Given the description of an element on the screen output the (x, y) to click on. 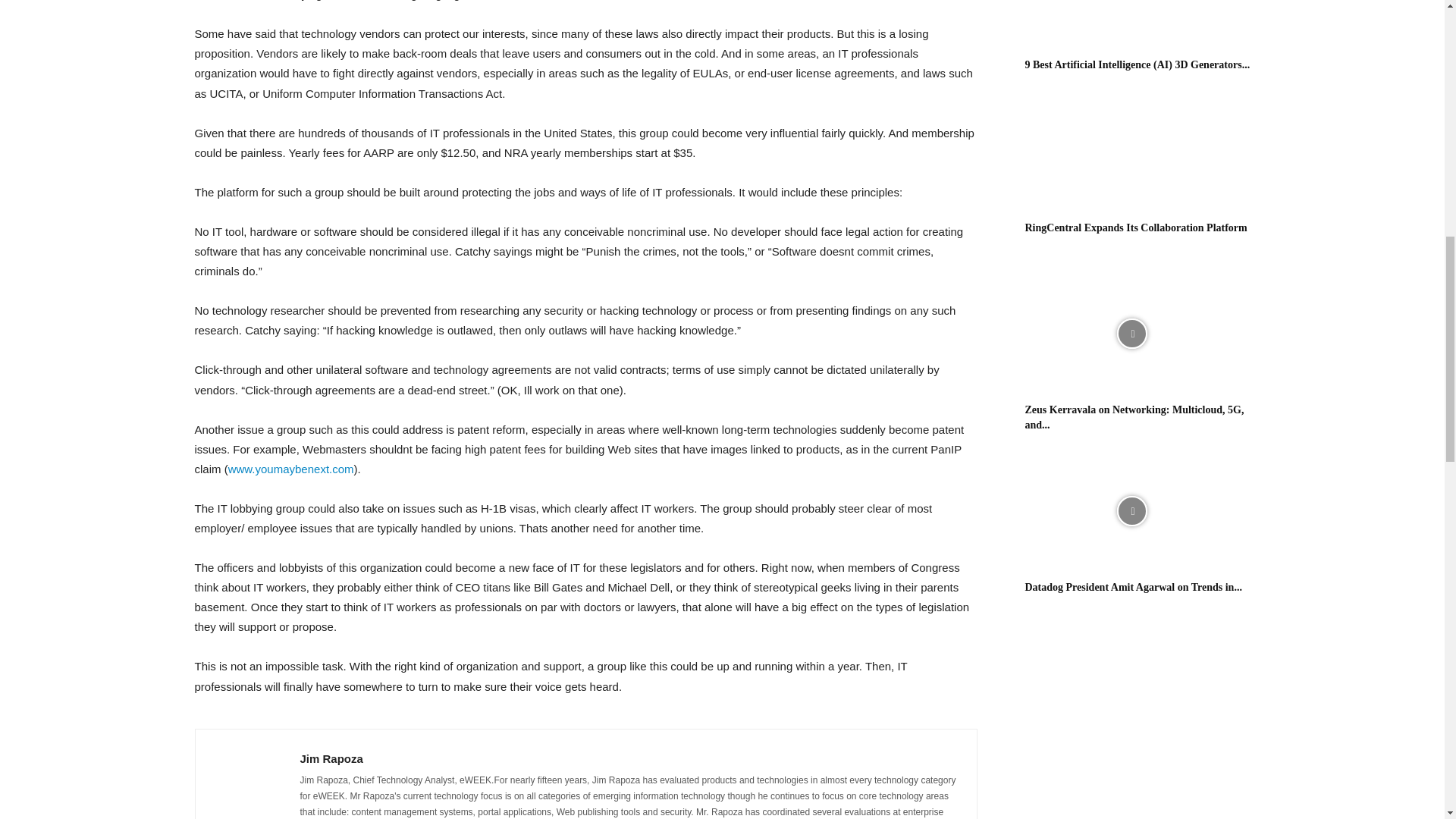
RingCentral Expands Its Collaboration Platform (1131, 151)
Zeus Kerravala on Networking: Multicloud, 5G, and Automation (1134, 417)
Zeus Kerravala on Networking: Multicloud, 5G, and Automation (1131, 333)
RingCentral Expands Its Collaboration Platform (1136, 227)
